Given the description of an element on the screen output the (x, y) to click on. 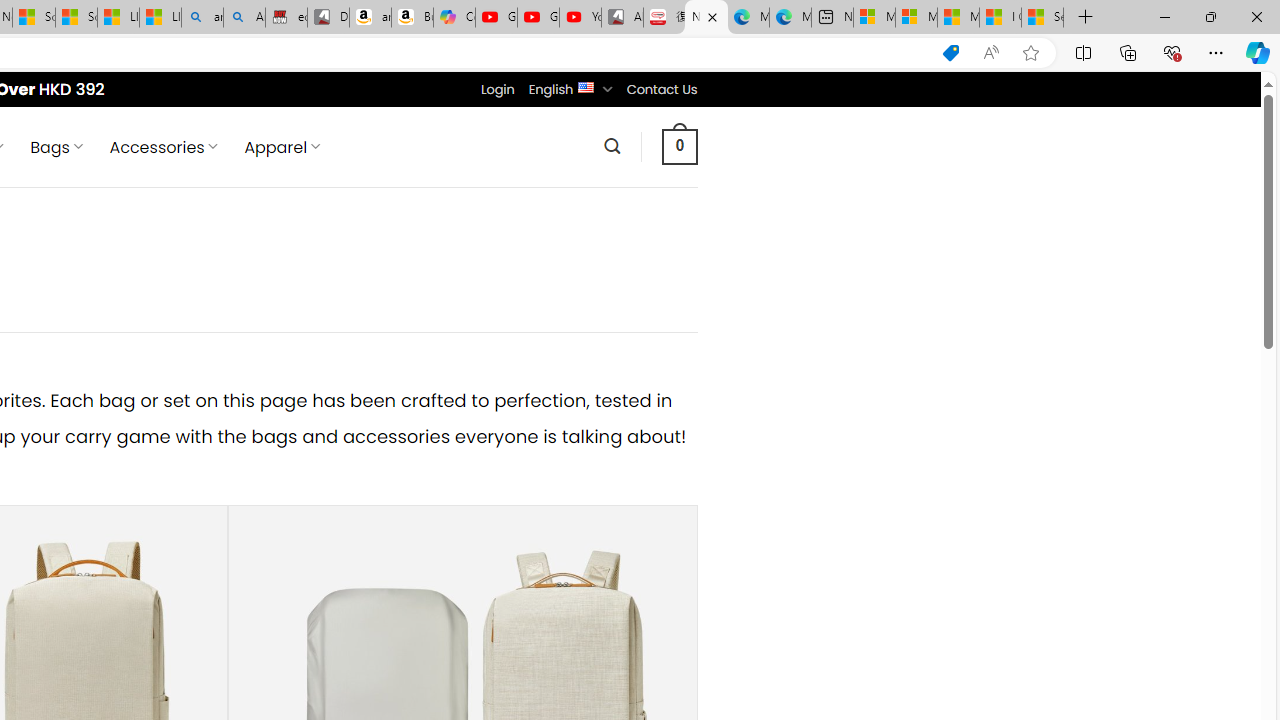
Contact Us (661, 89)
English (586, 86)
YouTube Kids - An App Created for Kids to Explore Content (580, 17)
Microsoft account | Privacy (916, 17)
